Given the description of an element on the screen output the (x, y) to click on. 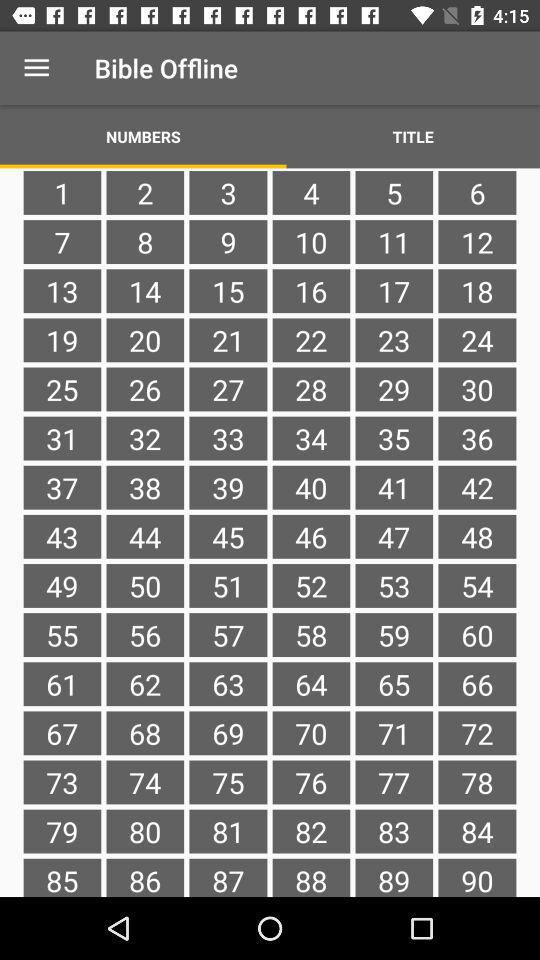
jump until 69 item (228, 733)
